Given the description of an element on the screen output the (x, y) to click on. 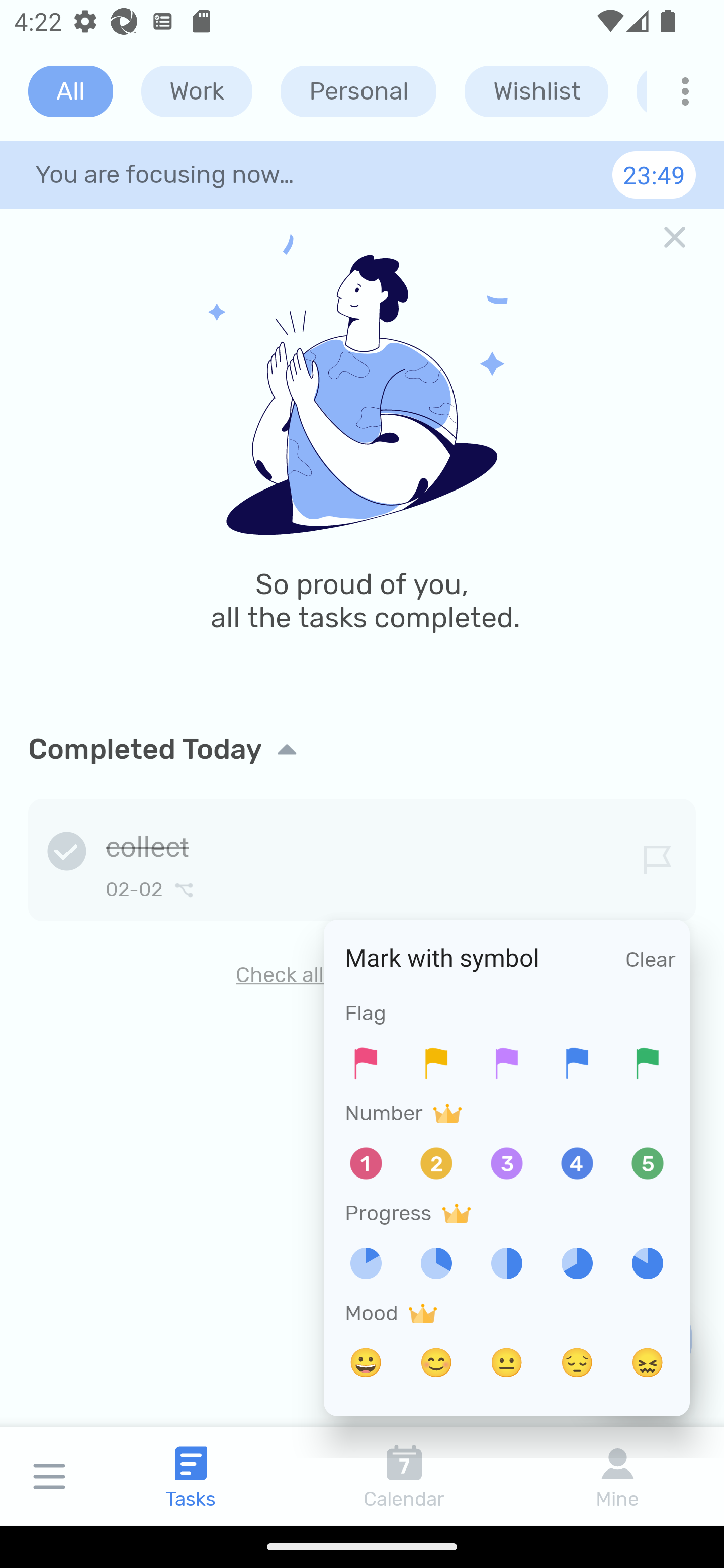
Clear (650, 959)
😀 (365, 1363)
😊 (436, 1363)
😐 (506, 1363)
😔 (576, 1363)
😖 (647, 1363)
